Given the description of an element on the screen output the (x, y) to click on. 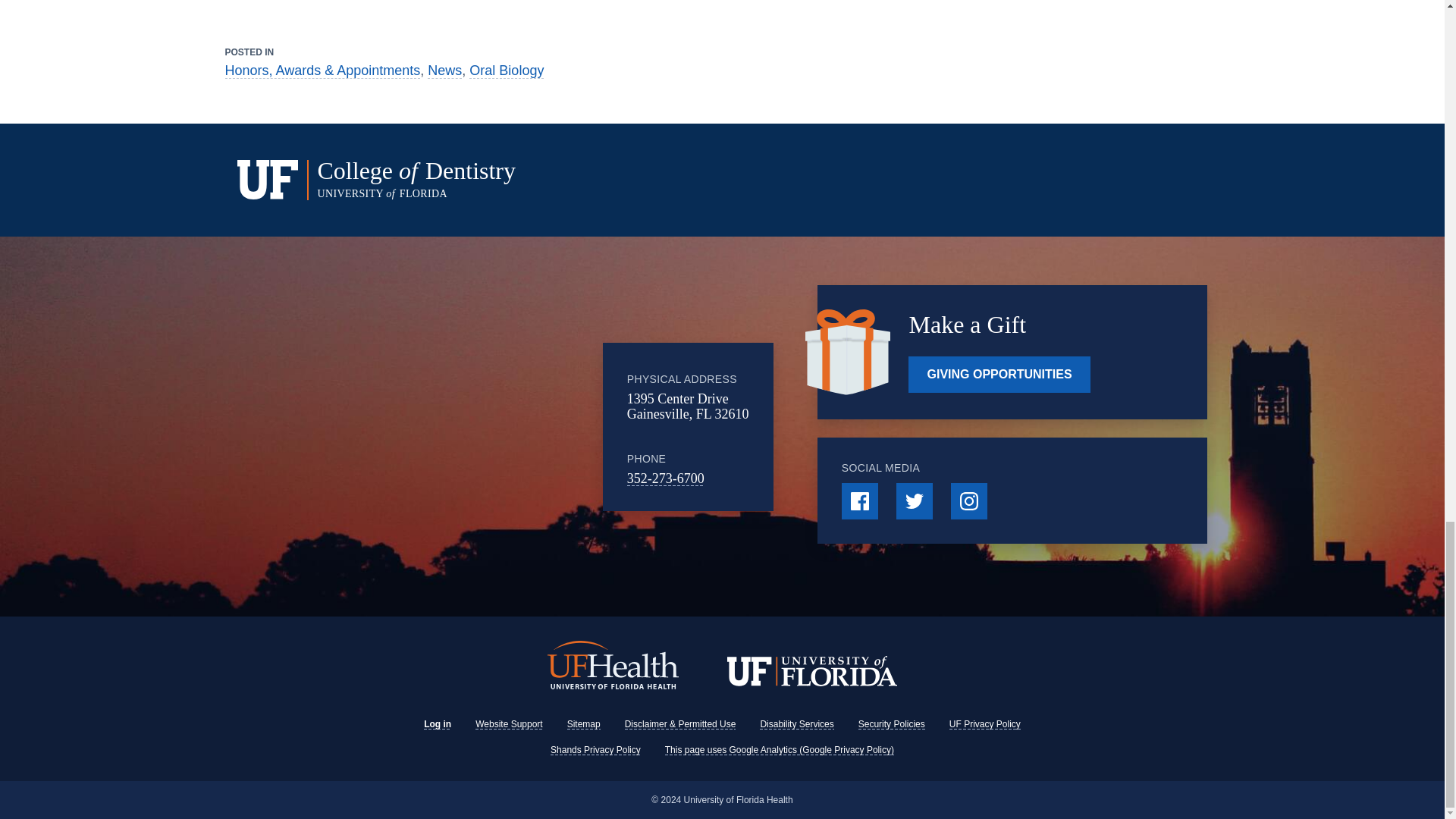
Log in (437, 724)
UF Privacy Policy (984, 724)
Disability Services (796, 724)
Google Maps Embed (478, 426)
352-273-6700 (665, 478)
Website Support (509, 724)
Shands Privacy Policy (595, 749)
Sitemap (583, 724)
Security Policies (891, 724)
